Given the description of an element on the screen output the (x, y) to click on. 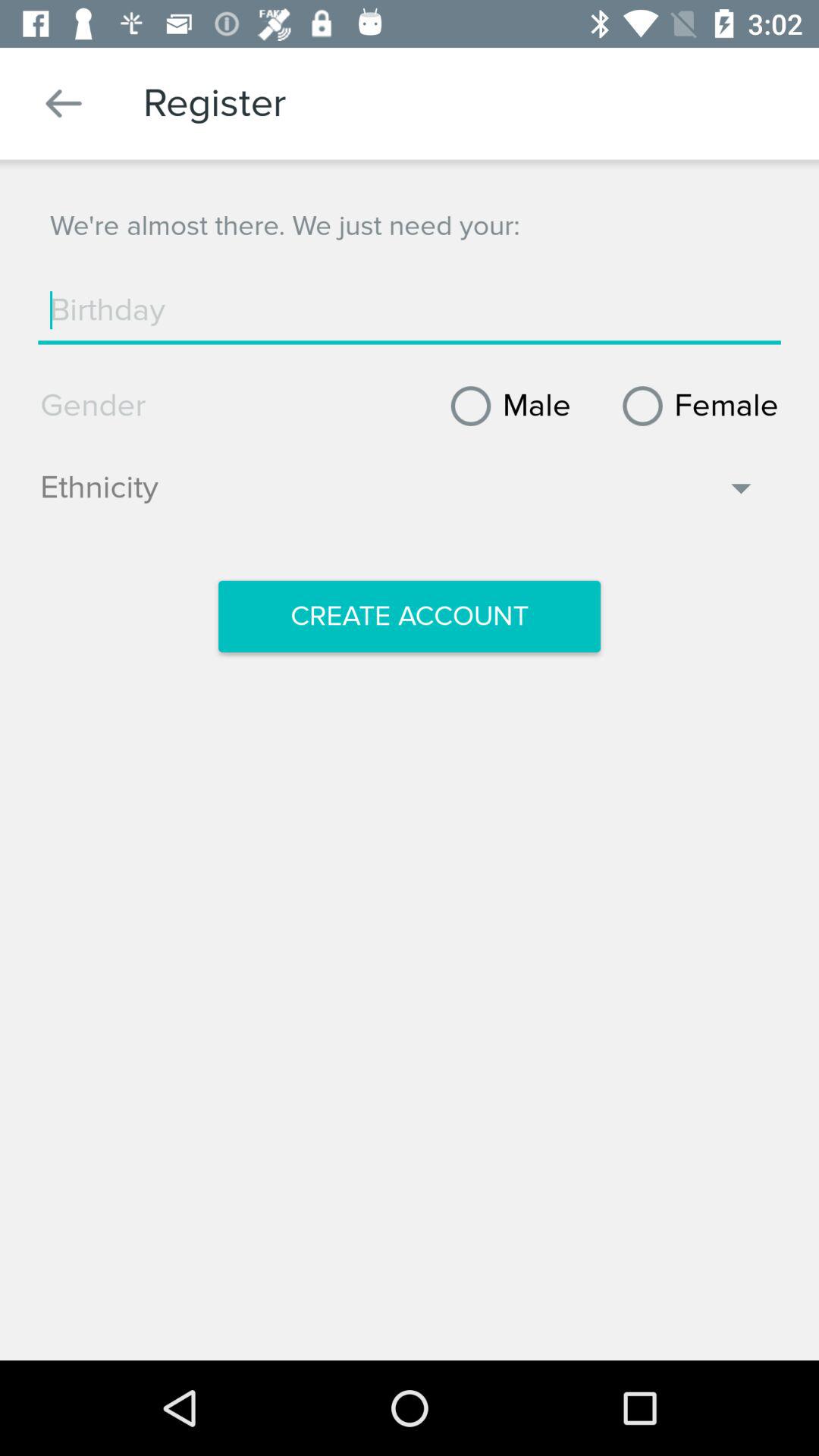
press male (505, 405)
